Given the description of an element on the screen output the (x, y) to click on. 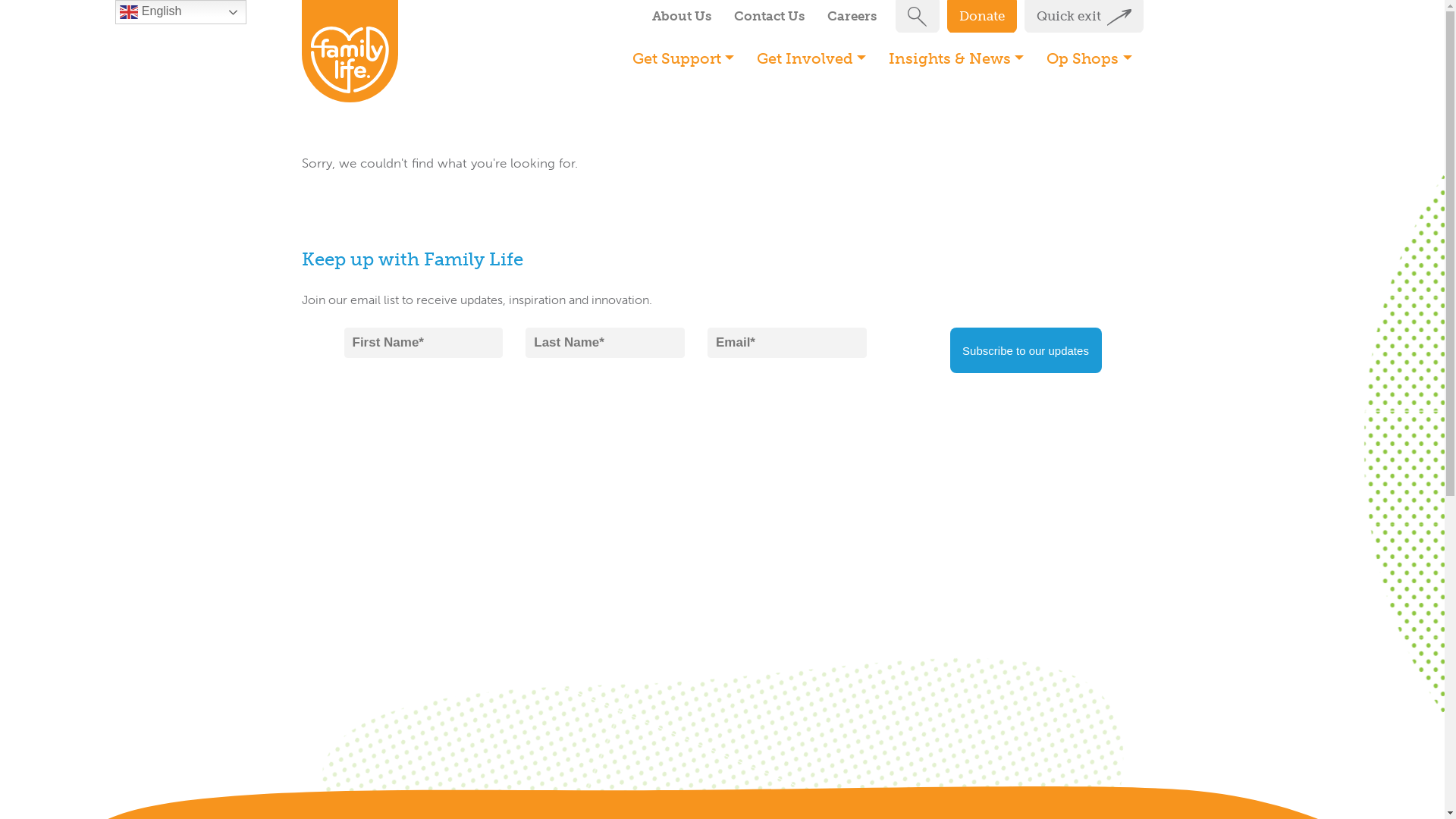
Quick exit Element type: text (1082, 16)
Insights & News Element type: text (956, 58)
About Us Element type: text (680, 16)
Donate Element type: text (981, 16)
Get Support Element type: text (683, 58)
Contact Us Element type: text (768, 16)
English Element type: text (180, 12)
Op Shops Element type: text (1088, 58)
Careers Element type: text (851, 16)
Get Involved Element type: text (811, 58)
